Given the description of an element on the screen output the (x, y) to click on. 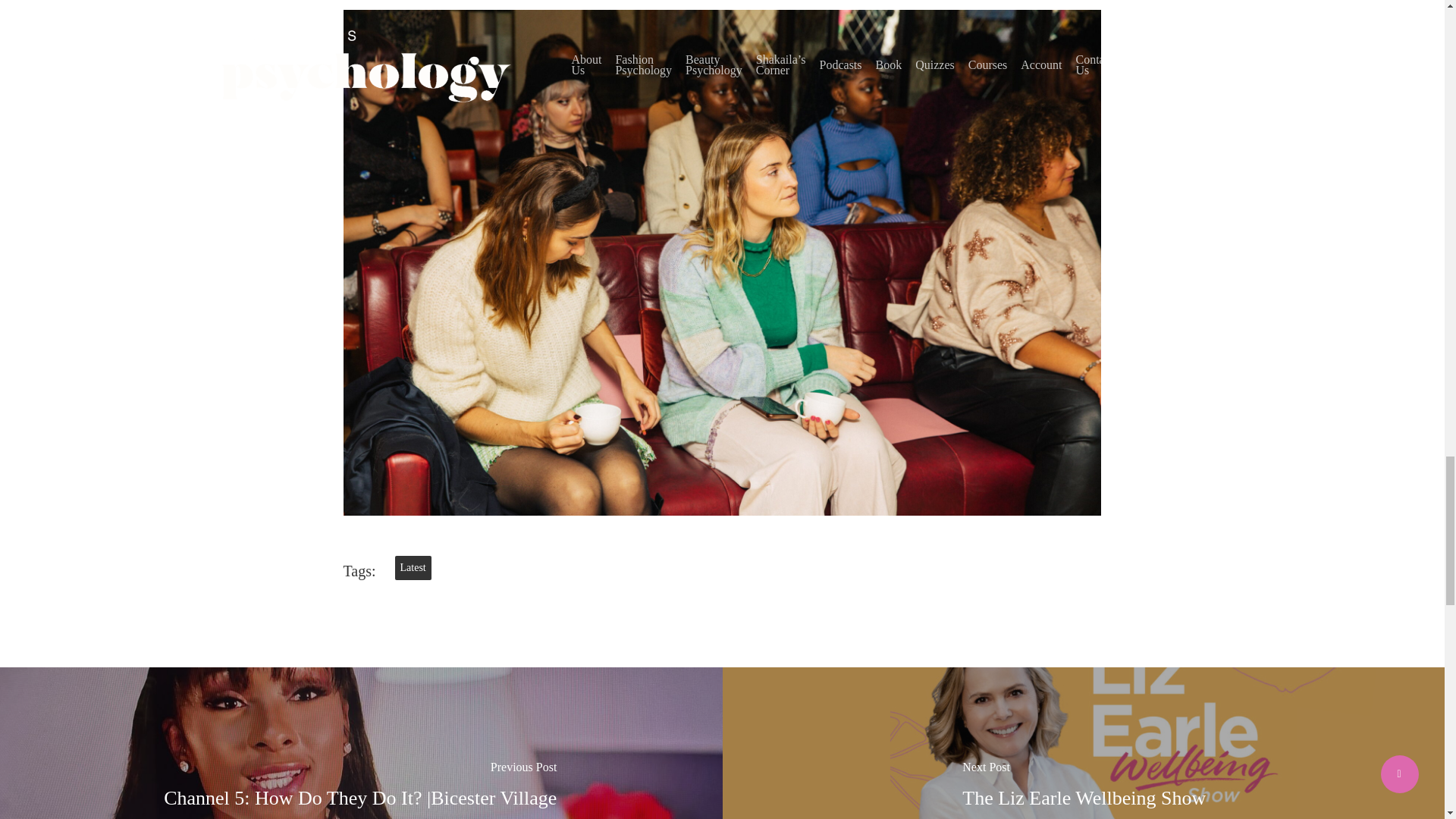
Latest (412, 567)
